Given the description of an element on the screen output the (x, y) to click on. 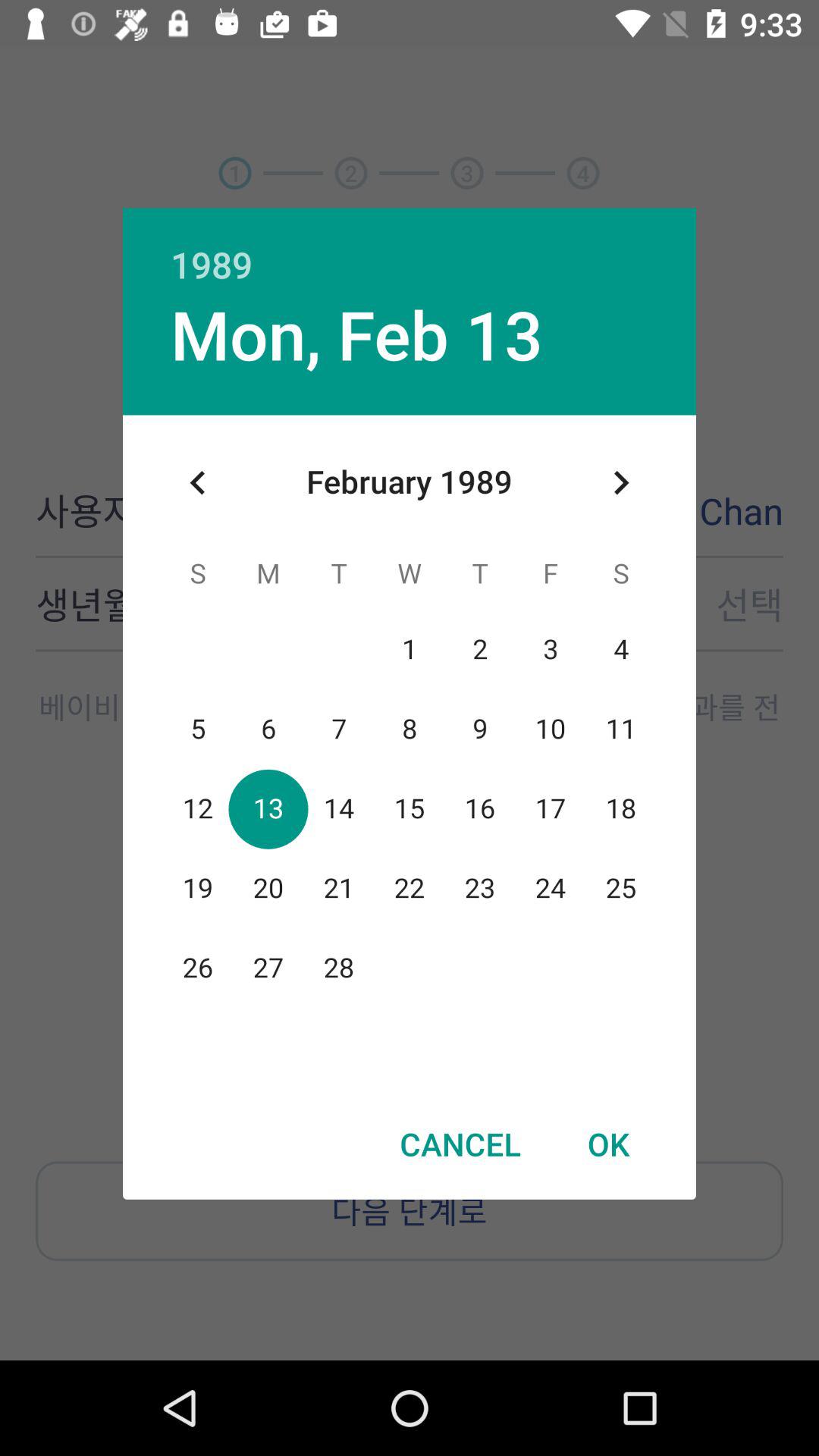
swipe to the 1989 item (409, 248)
